Given the description of an element on the screen output the (x, y) to click on. 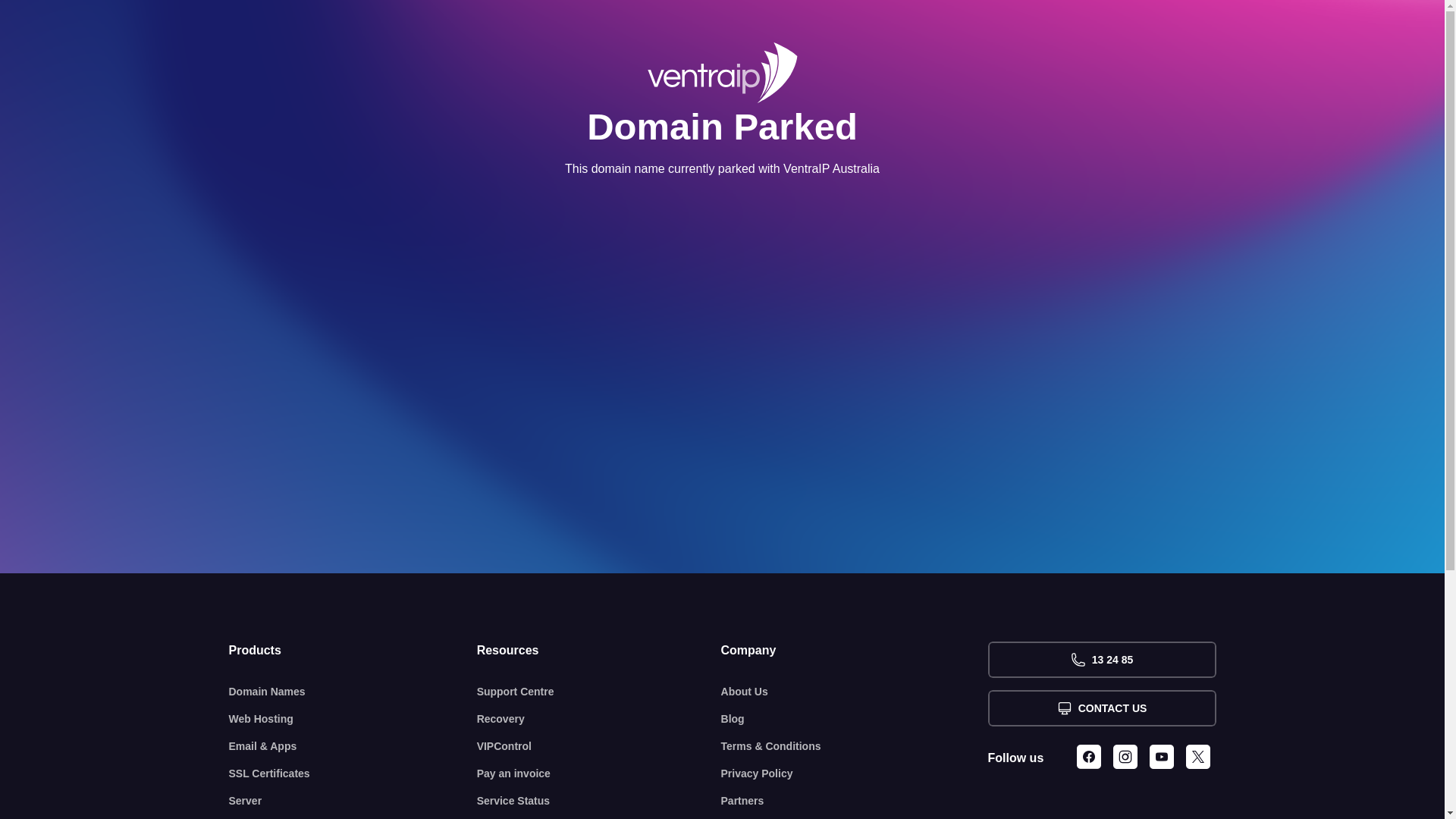
CONTACT US Element type: text (1101, 708)
About Us Element type: text (854, 691)
SSL Certificates Element type: text (352, 773)
Service Status Element type: text (598, 800)
13 24 85 Element type: text (1101, 659)
Support Centre Element type: text (598, 691)
Privacy Policy Element type: text (854, 773)
Server Element type: text (352, 800)
Terms & Conditions Element type: text (854, 745)
Domain Names Element type: text (352, 691)
Partners Element type: text (854, 800)
Recovery Element type: text (598, 718)
Email & Apps Element type: text (352, 745)
Pay an invoice Element type: text (598, 773)
Web Hosting Element type: text (352, 718)
Blog Element type: text (854, 718)
VIPControl Element type: text (598, 745)
